Given the description of an element on the screen output the (x, y) to click on. 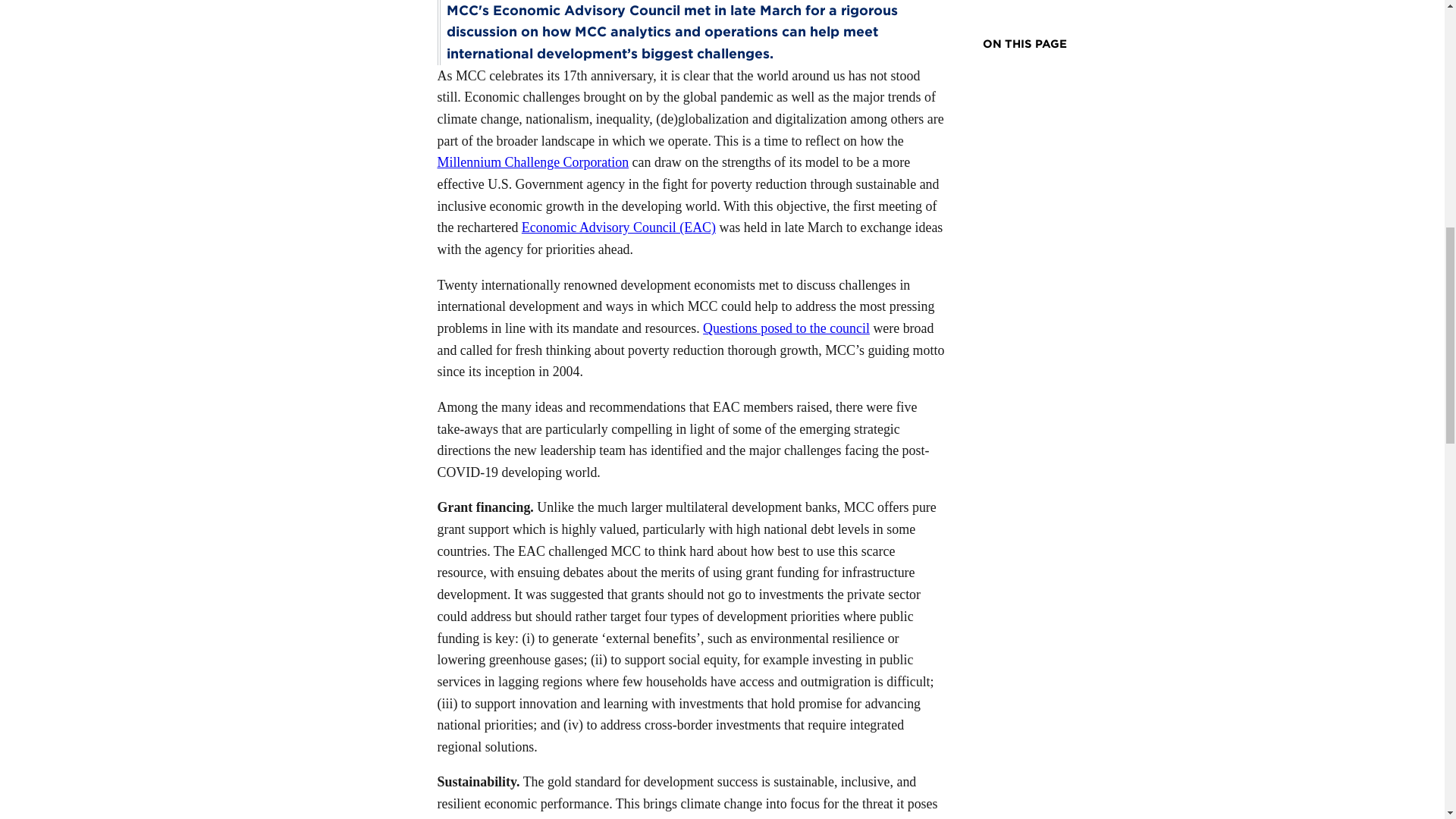
Millennium Challenge Corporation (532, 161)
Questions posed to the council (786, 328)
